Given the description of an element on the screen output the (x, y) to click on. 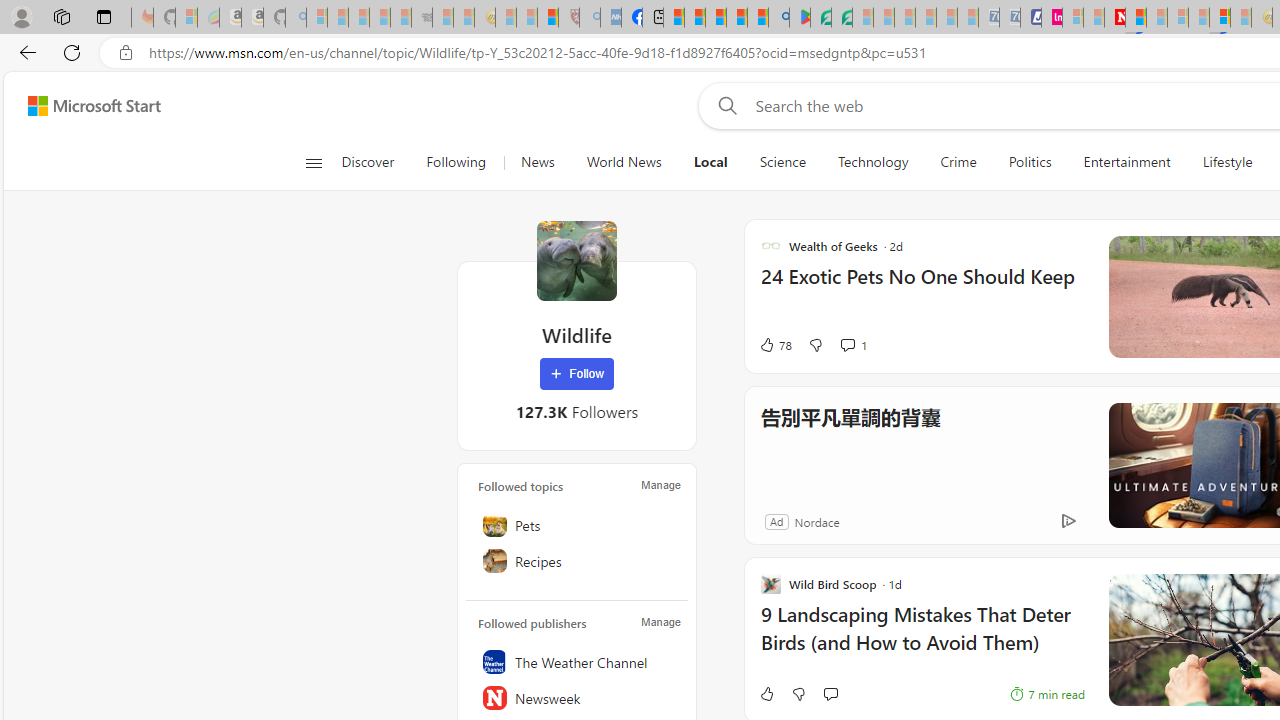
Latest Politics News & Archive | Newsweek.com (1114, 17)
Jobs - lastminute.com Investor Portal (1051, 17)
Combat Siege (422, 17)
78 Like (775, 344)
Cheap Hotels - Save70.com - Sleeping (1009, 17)
24 Exotic Pets No One Should Keep (922, 286)
